Given the description of an element on the screen output the (x, y) to click on. 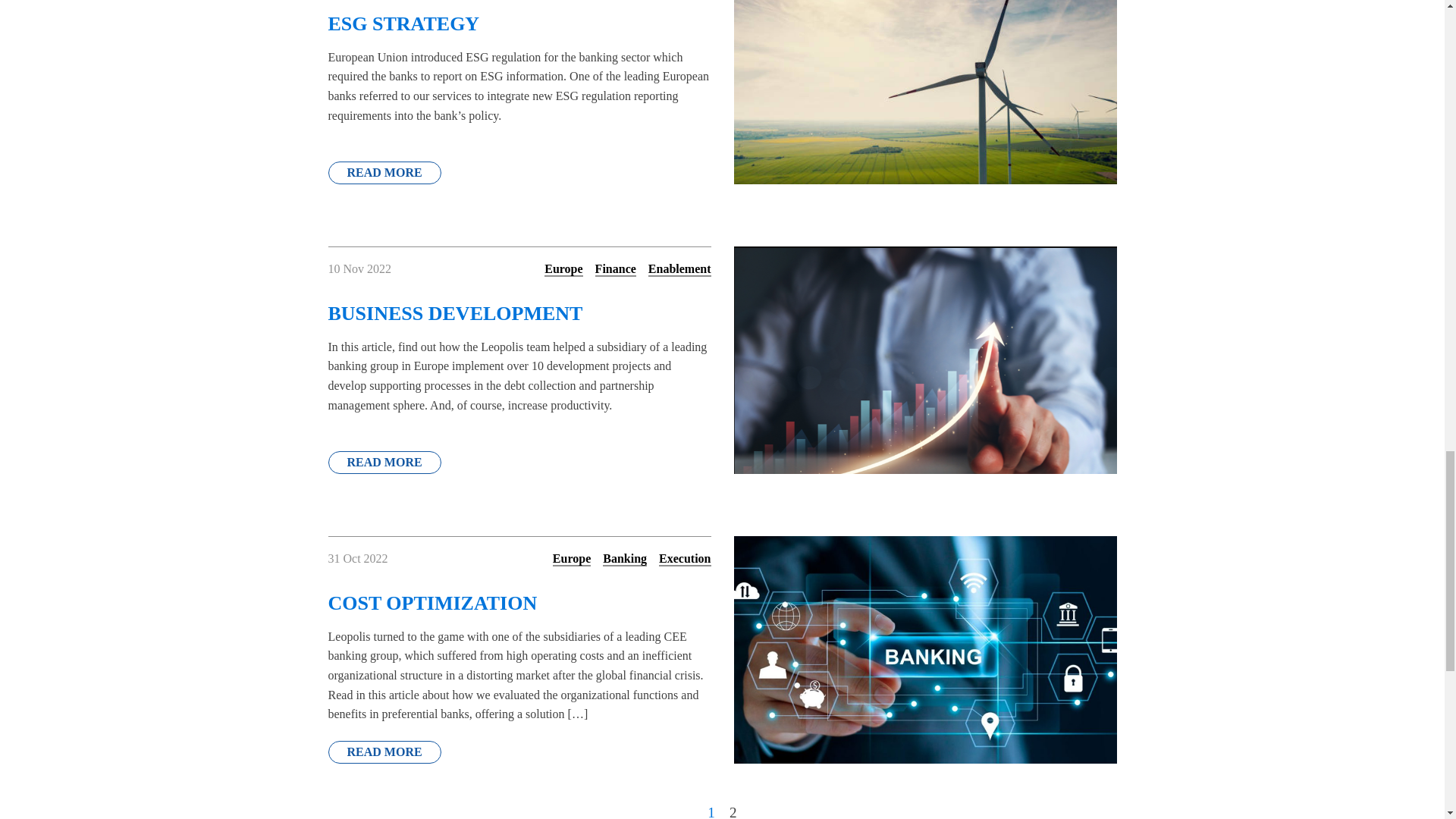
Enablement (679, 269)
Finance (615, 269)
BUSINESS DEVELOPMENT (518, 302)
Europe (563, 269)
Europe (572, 559)
READ MORE (384, 172)
READ MORE (384, 462)
Banking (624, 559)
ESG STRATEGY (518, 18)
